Given the description of an element on the screen output the (x, y) to click on. 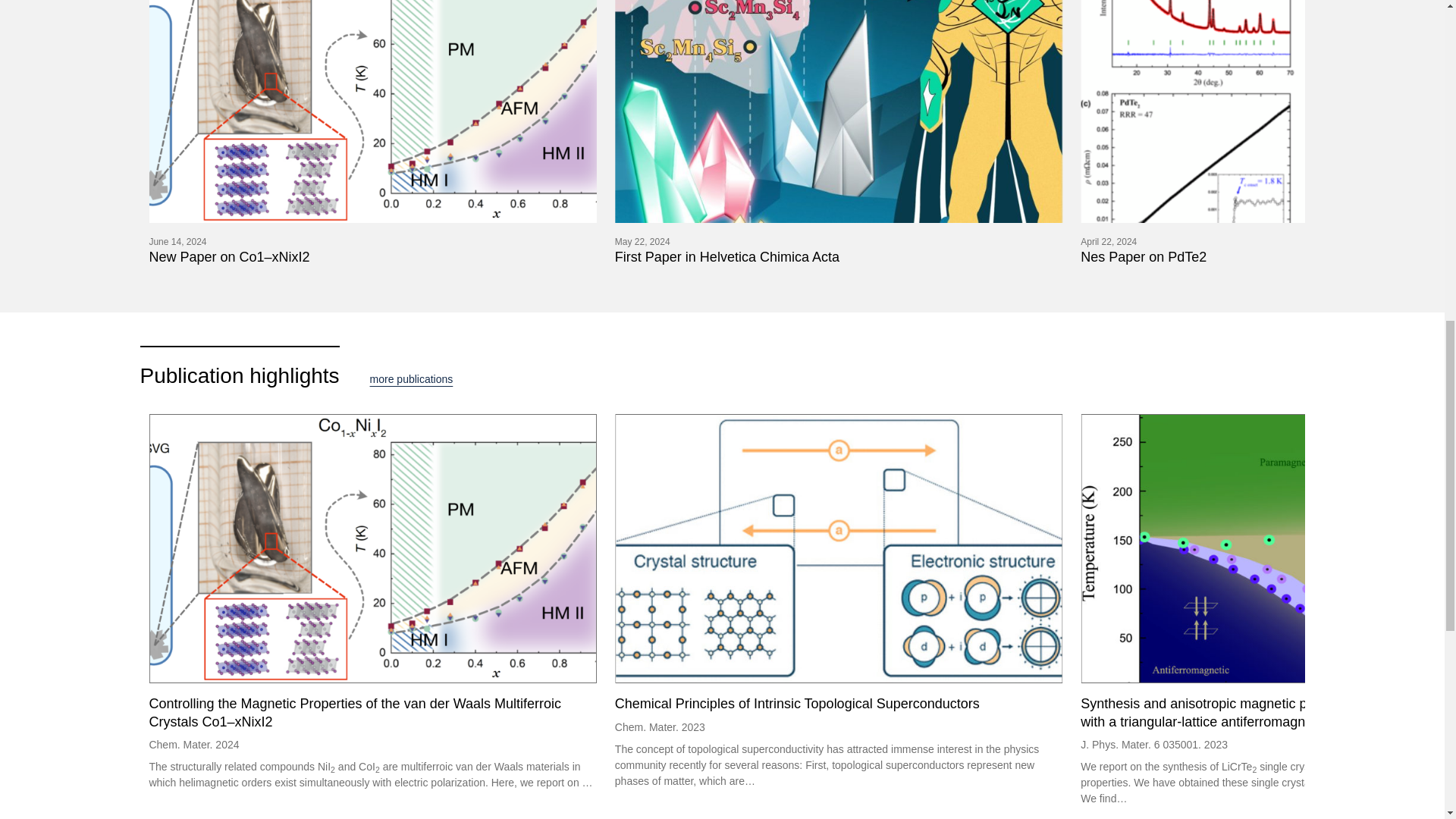
more publications (410, 379)
